Given the description of an element on the screen output the (x, y) to click on. 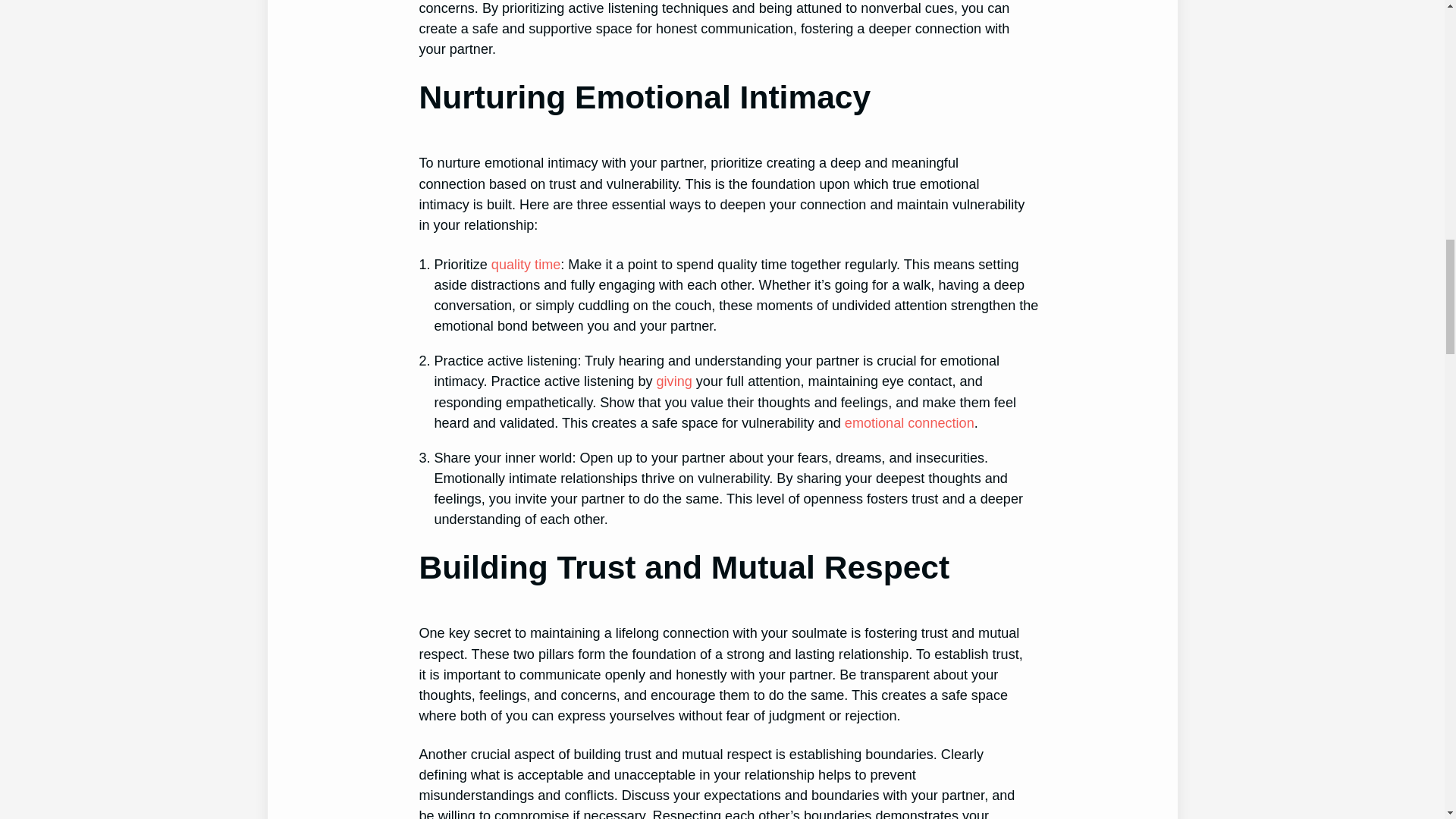
emotional connection (909, 422)
quality time (526, 264)
emotional connection (909, 422)
quality time (526, 264)
giving (674, 381)
giving (674, 381)
